Given the description of an element on the screen output the (x, y) to click on. 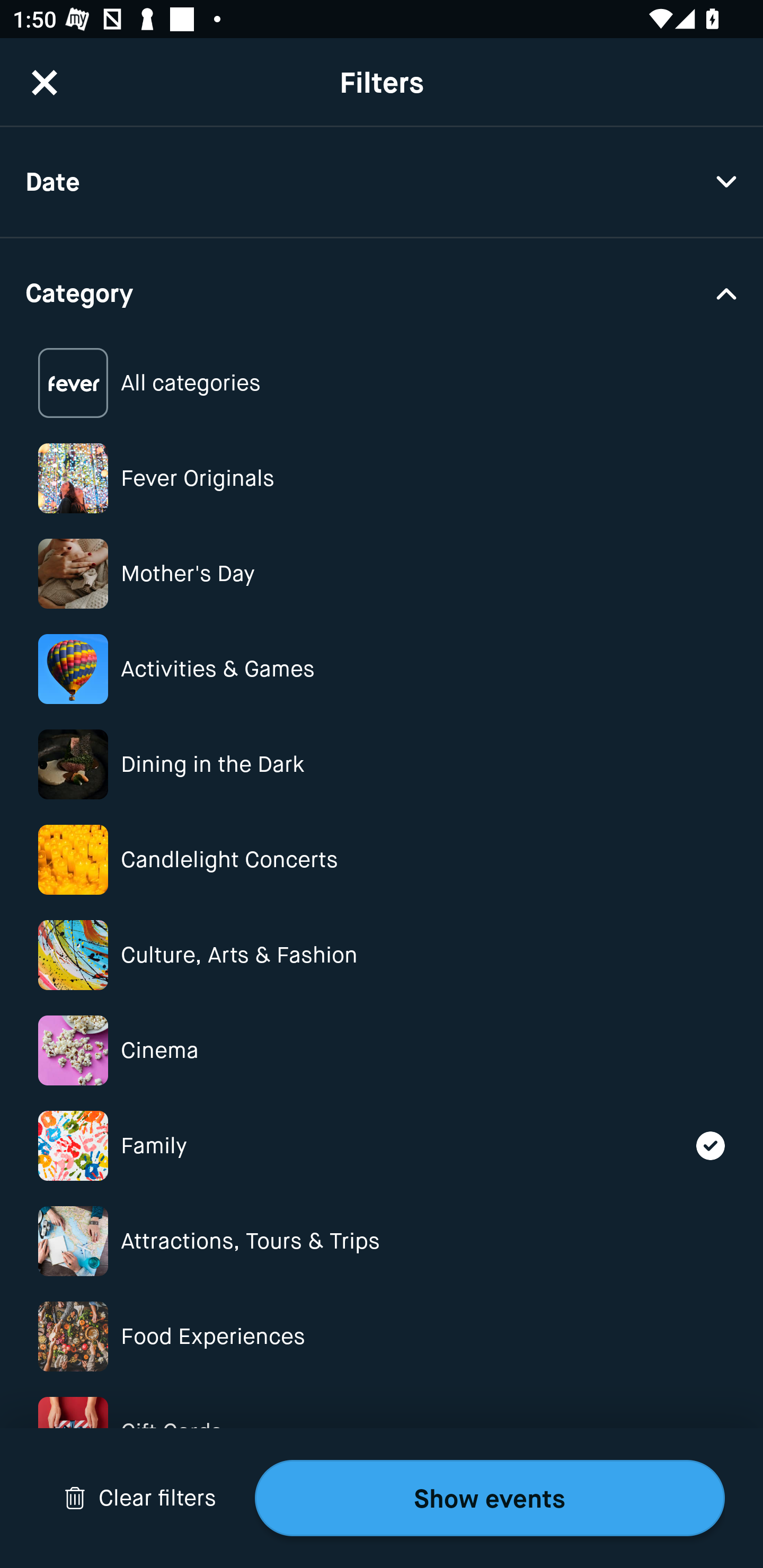
CloseButton (44, 82)
Date Drop Down Arrow (381, 182)
Category Drop Down Arrow (381, 291)
Category Image All categories (381, 382)
Category Image Fever Originals (381, 477)
Category Image Mother's Day (381, 573)
Category Image Activities & Games (381, 668)
Category Image Dining in the Dark (381, 763)
Category Image Candlelight Concerts (381, 859)
Category Image Culture, Arts & Fashion (381, 954)
Category Image Cinema (381, 1050)
Category Image Family Selected Icon (381, 1145)
Category Image Attractions, Tours & Trips (381, 1240)
Category Image Food Experiences (381, 1336)
Drop Down Arrow Clear filters (139, 1497)
Show events (489, 1497)
